Given the description of an element on the screen output the (x, y) to click on. 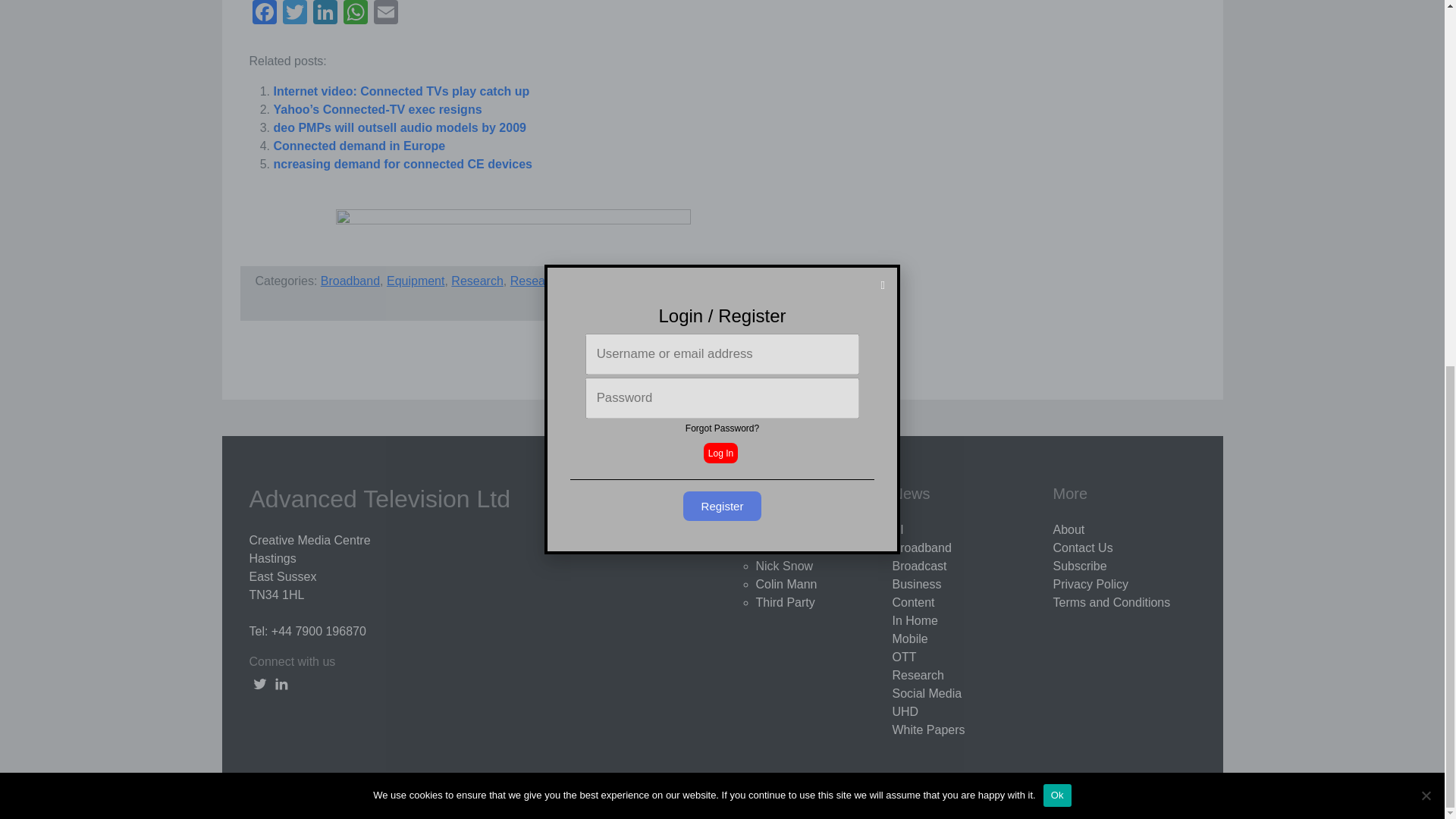
WhatsApp (354, 13)
Email (384, 13)
deo PMPs will outsell audio models by 2009 (399, 127)
ncreasing demand for connected CE devices (402, 164)
LinkedIn (323, 13)
Internet video: Connected TVs play catch up (401, 91)
Facebook (263, 13)
Research Library (556, 280)
No (1425, 135)
Facebook (263, 13)
deo PMPs will outsell audio models by 2009 (399, 127)
Twitter (293, 13)
Equipment (416, 280)
WhatsApp (354, 13)
ncreasing demand for connected CE devices (402, 164)
